Given the description of an element on the screen output the (x, y) to click on. 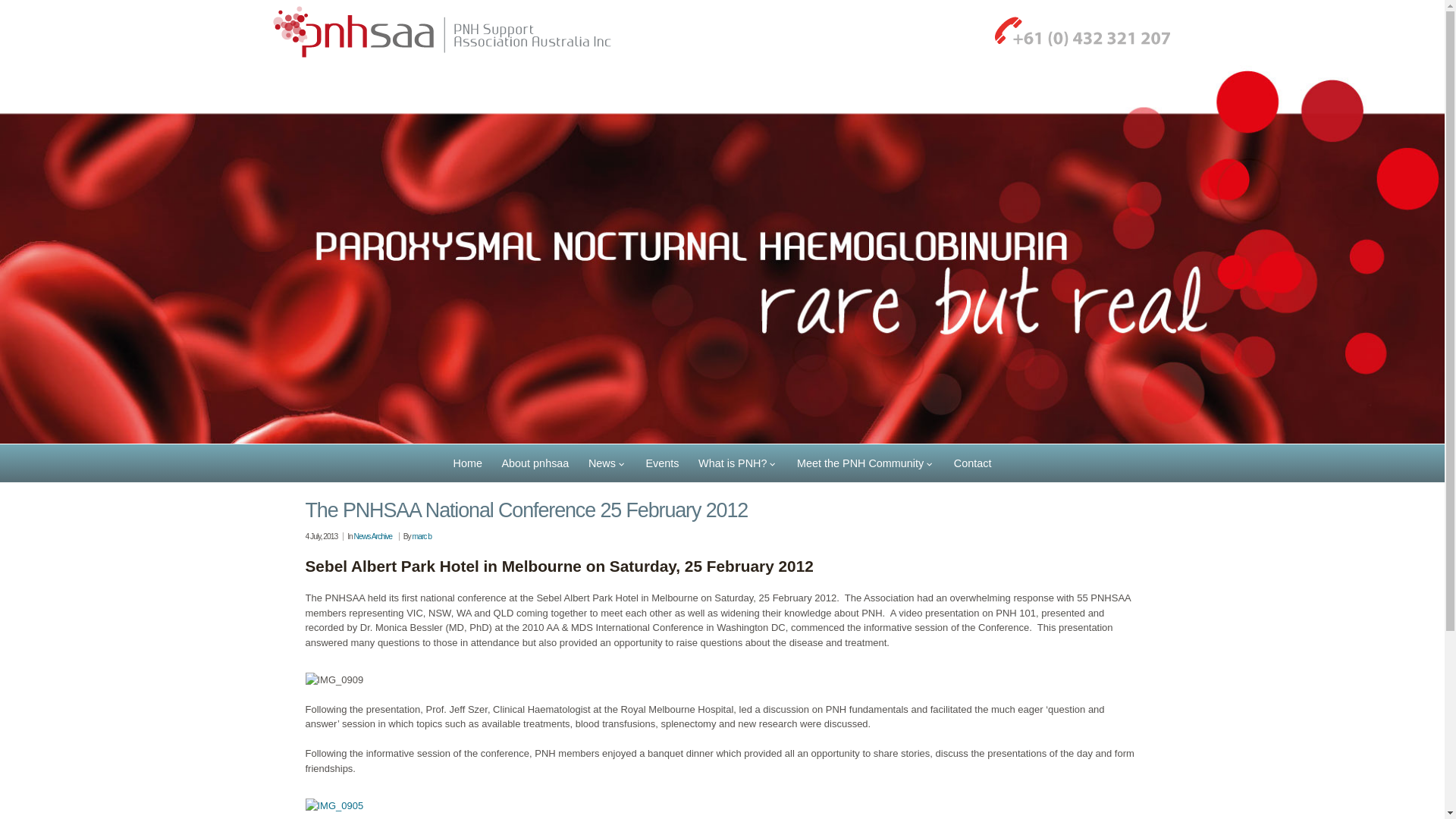
Home Element type: text (467, 463)
What is PNH? Element type: text (737, 463)
marc b Element type: text (422, 536)
Events Element type: text (662, 463)
The PNHSAA National Conference 25 February 2012 Element type: text (525, 509)
Meet the PNH Community Element type: text (865, 463)
Contact Element type: text (972, 463)
News Element type: text (607, 463)
About pnhsaa Element type: text (535, 463)
News Archive Element type: text (373, 536)
Return to homepage Element type: hover (722, 254)
